Given the description of an element on the screen output the (x, y) to click on. 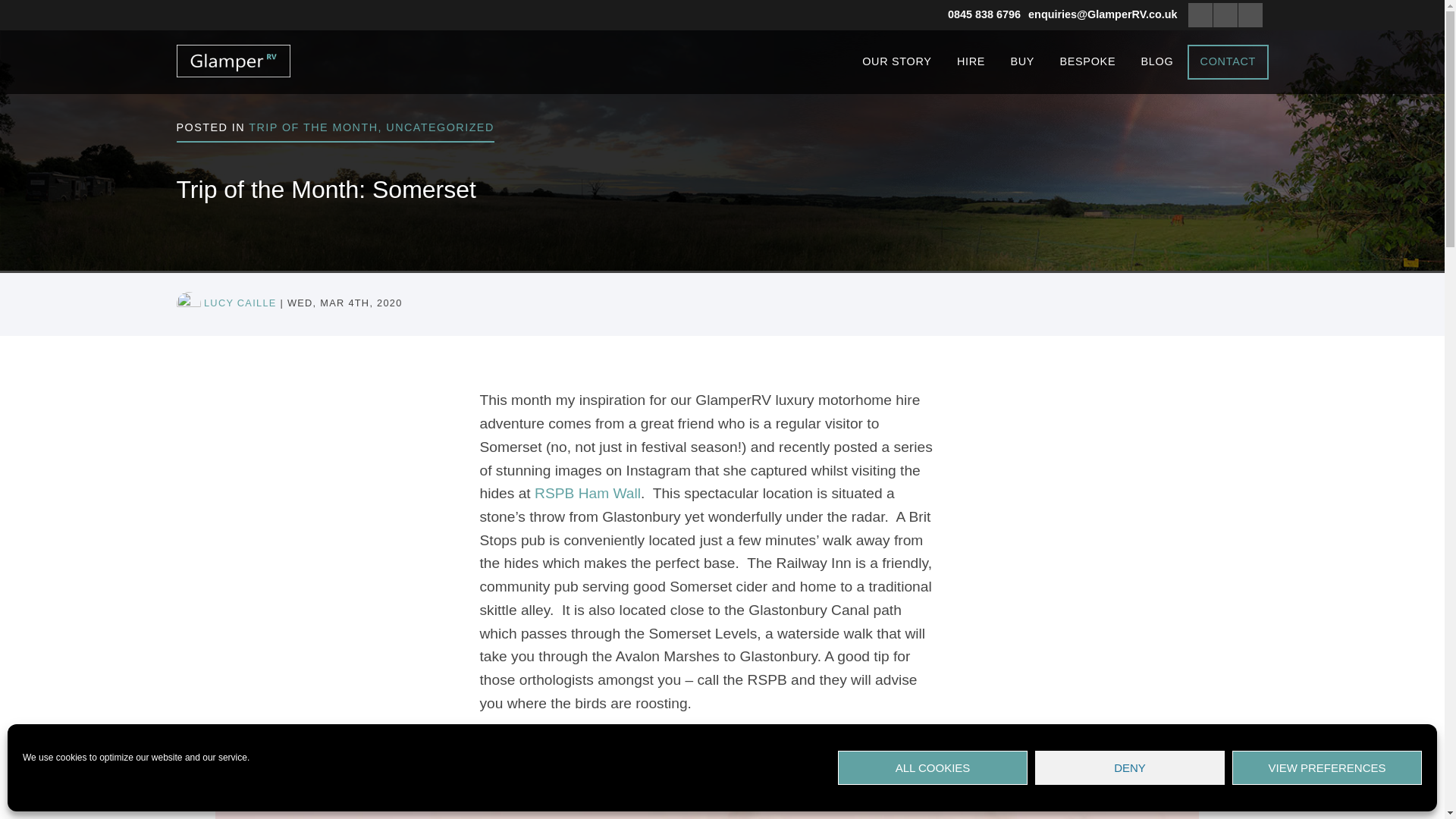
OUR STORY (896, 61)
DENY (1129, 767)
LUCY CAILLE (239, 302)
BLOG (1157, 61)
UNCATEGORIZED (439, 127)
Posts by Lucy Caille (239, 302)
RSPB Ham Wall (587, 493)
CONTACT (1228, 62)
TRIP OF THE MONTH (312, 127)
BUY (1021, 61)
